Given the description of an element on the screen output the (x, y) to click on. 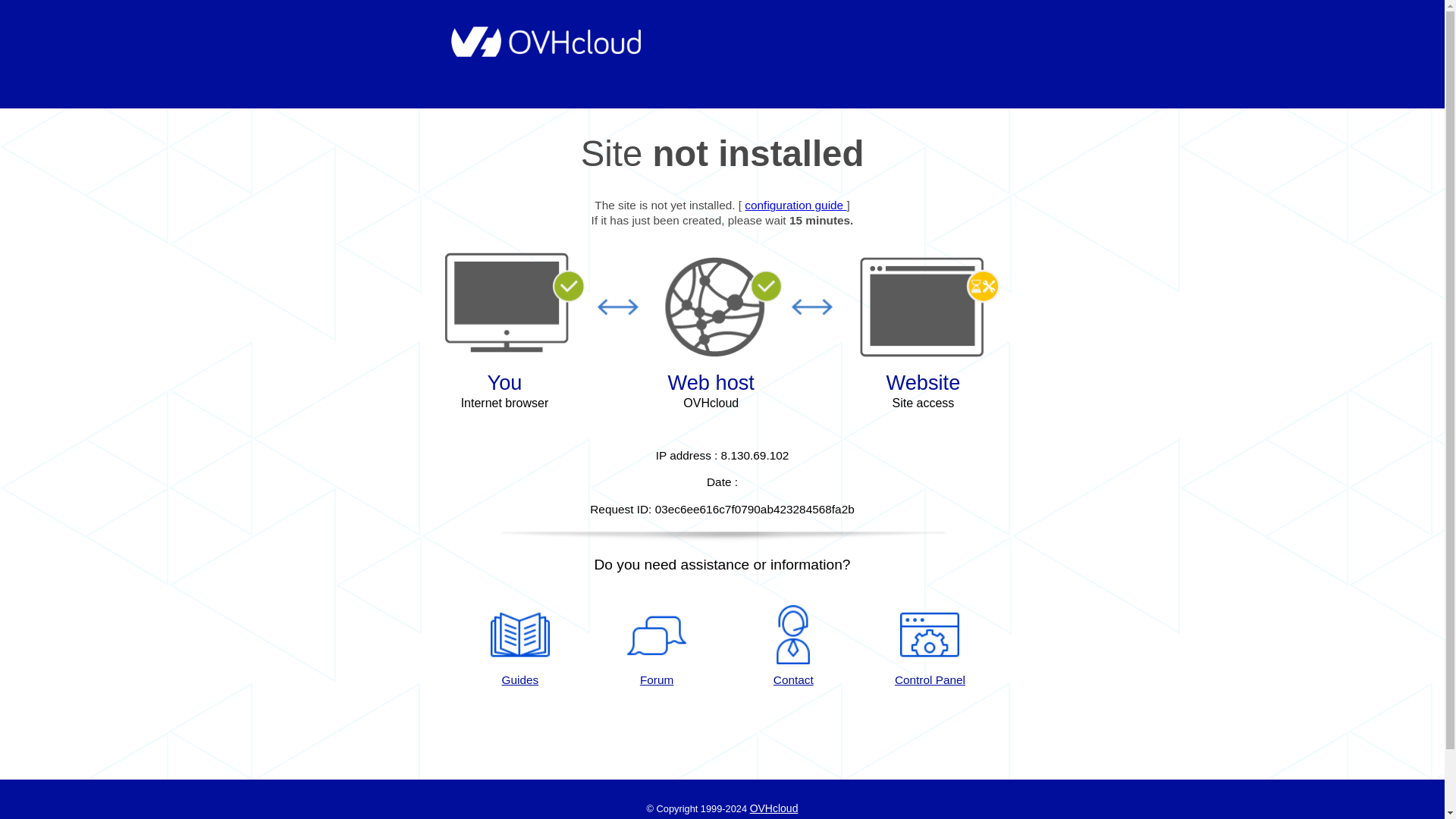
Guides (519, 646)
Contact (793, 646)
Forum (656, 646)
configuration guide (794, 205)
Forum (656, 646)
Control Panel (930, 646)
OVHcloud (773, 808)
Guides (519, 646)
Contact (793, 646)
Control Panel (930, 646)
